Given the description of an element on the screen output the (x, y) to click on. 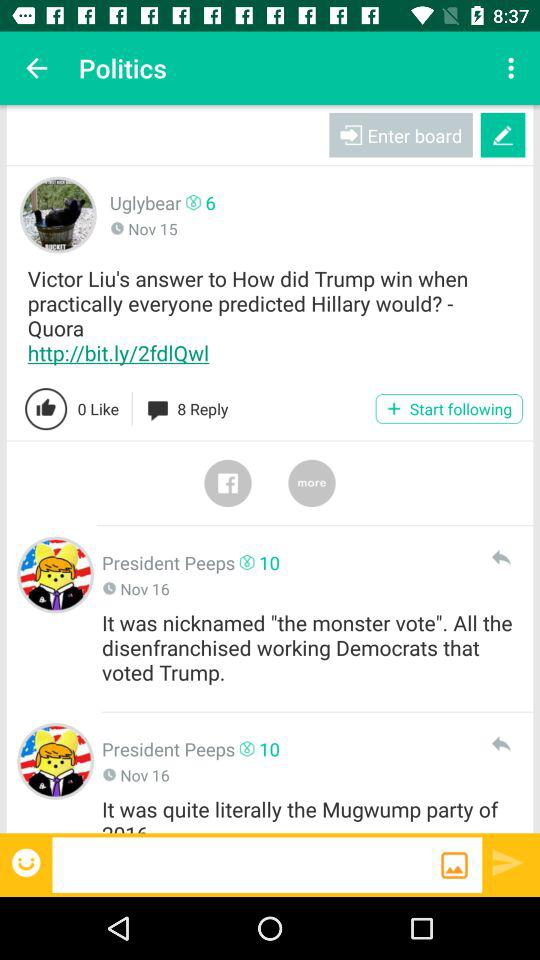
send (508, 862)
